Given the description of an element on the screen output the (x, y) to click on. 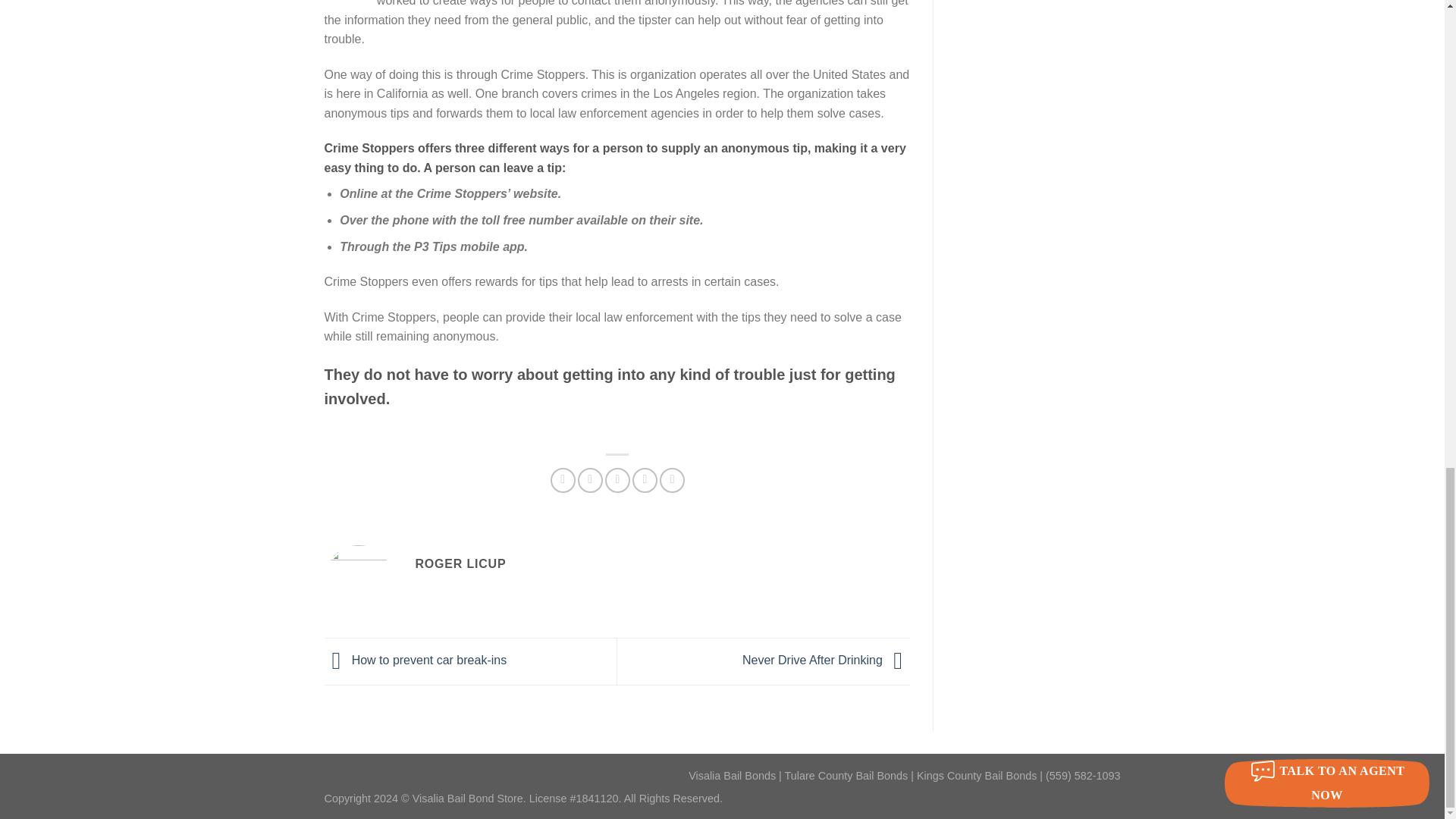
Pin on Pinterest (644, 480)
Share on Facebook (562, 480)
Email to a Friend (617, 480)
Share on Twitter (590, 480)
Share on LinkedIn (671, 480)
